Given the description of an element on the screen output the (x, y) to click on. 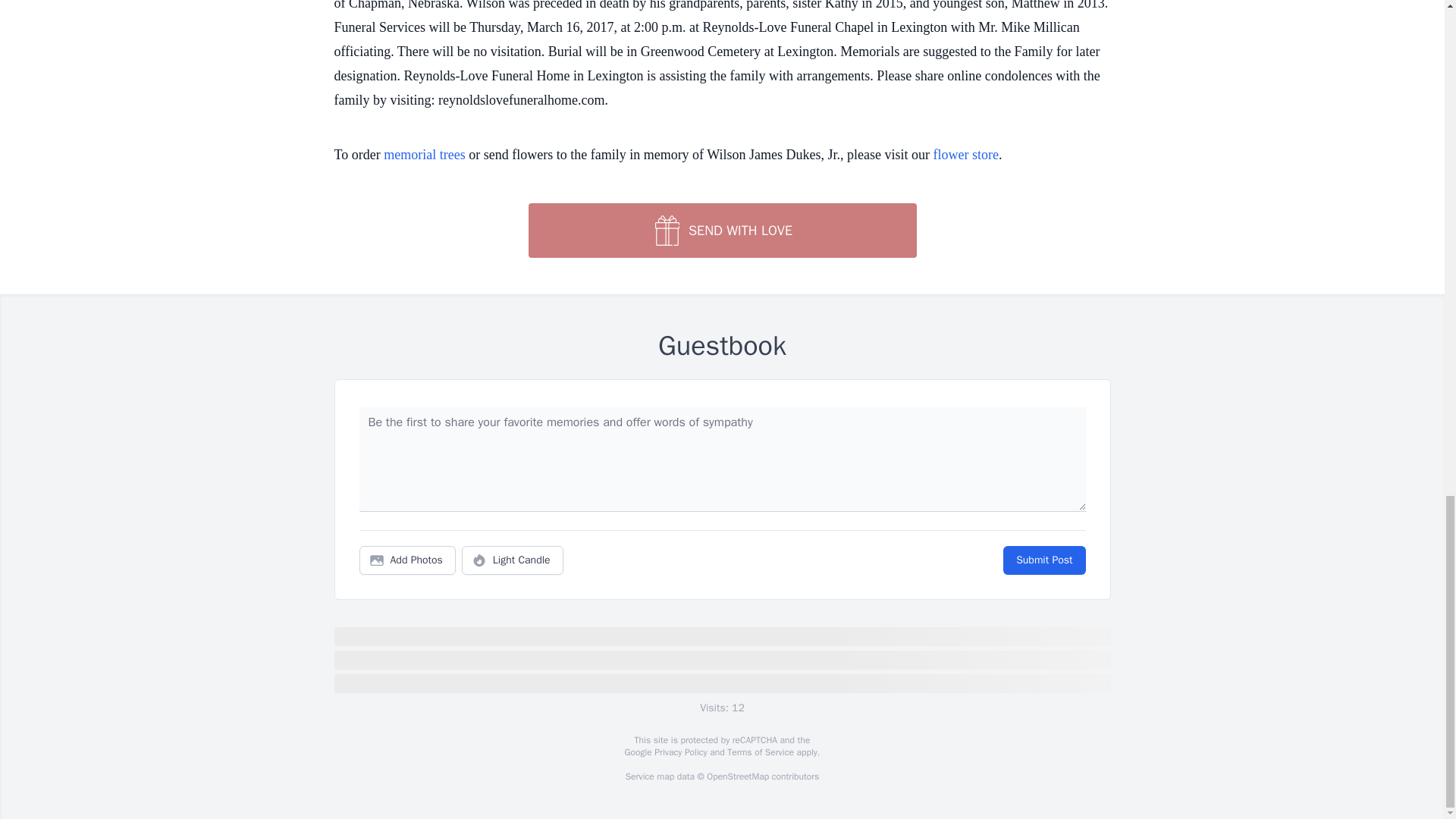
Add Photos (407, 560)
memorial trees (424, 154)
OpenStreetMap (737, 776)
SEND WITH LOVE (721, 230)
flower store (965, 154)
Privacy Policy (679, 752)
Submit Post (1043, 560)
Light Candle (512, 560)
Terms of Service (759, 752)
